Given the description of an element on the screen output the (x, y) to click on. 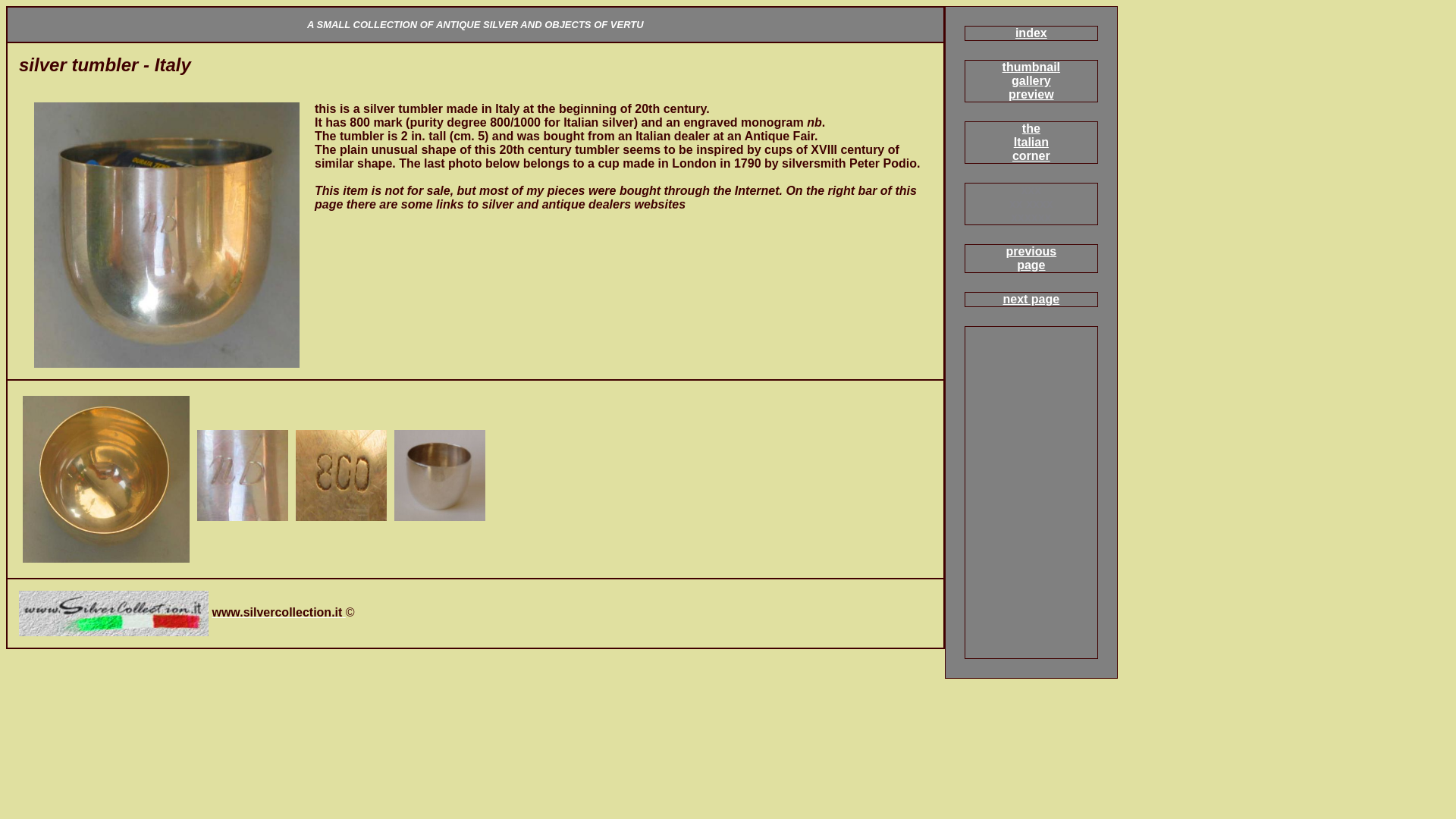
Advertisement (1031, 142)
Advertisement (1031, 257)
